Given the description of an element on the screen output the (x, y) to click on. 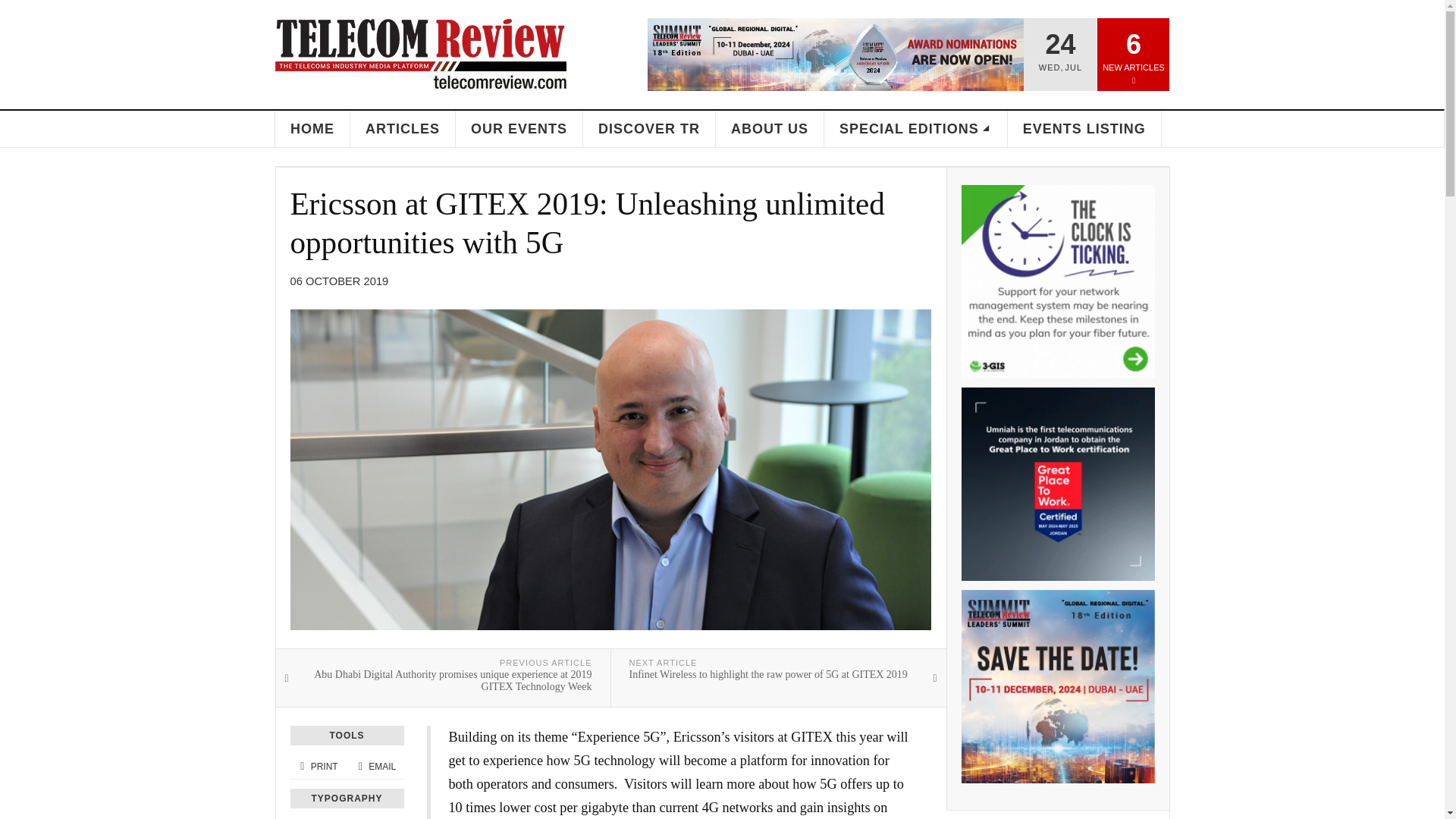
Telecom Review (420, 54)
Published:  (338, 281)
HOME (312, 128)
2024 07 Umniah Jordan WB (1057, 483)
Print (318, 766)
2024 07 3GIS Top Side WB (1057, 281)
2024 03 TRS WB (1057, 685)
2024 07 TRS Awards Top WB (835, 54)
Email (375, 766)
